Given the description of an element on the screen output the (x, y) to click on. 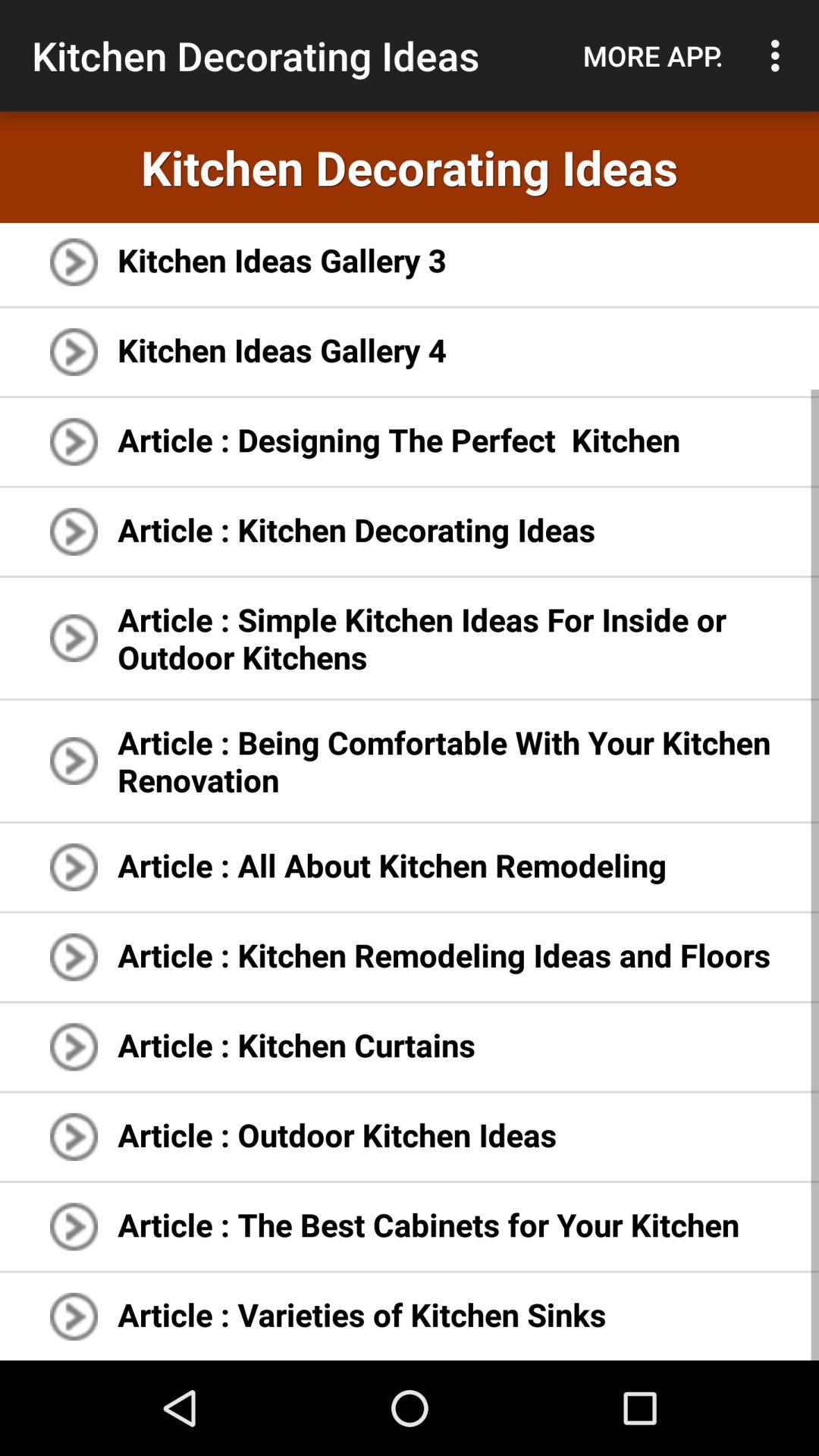
jump to the more app. item (653, 55)
